Given the description of an element on the screen output the (x, y) to click on. 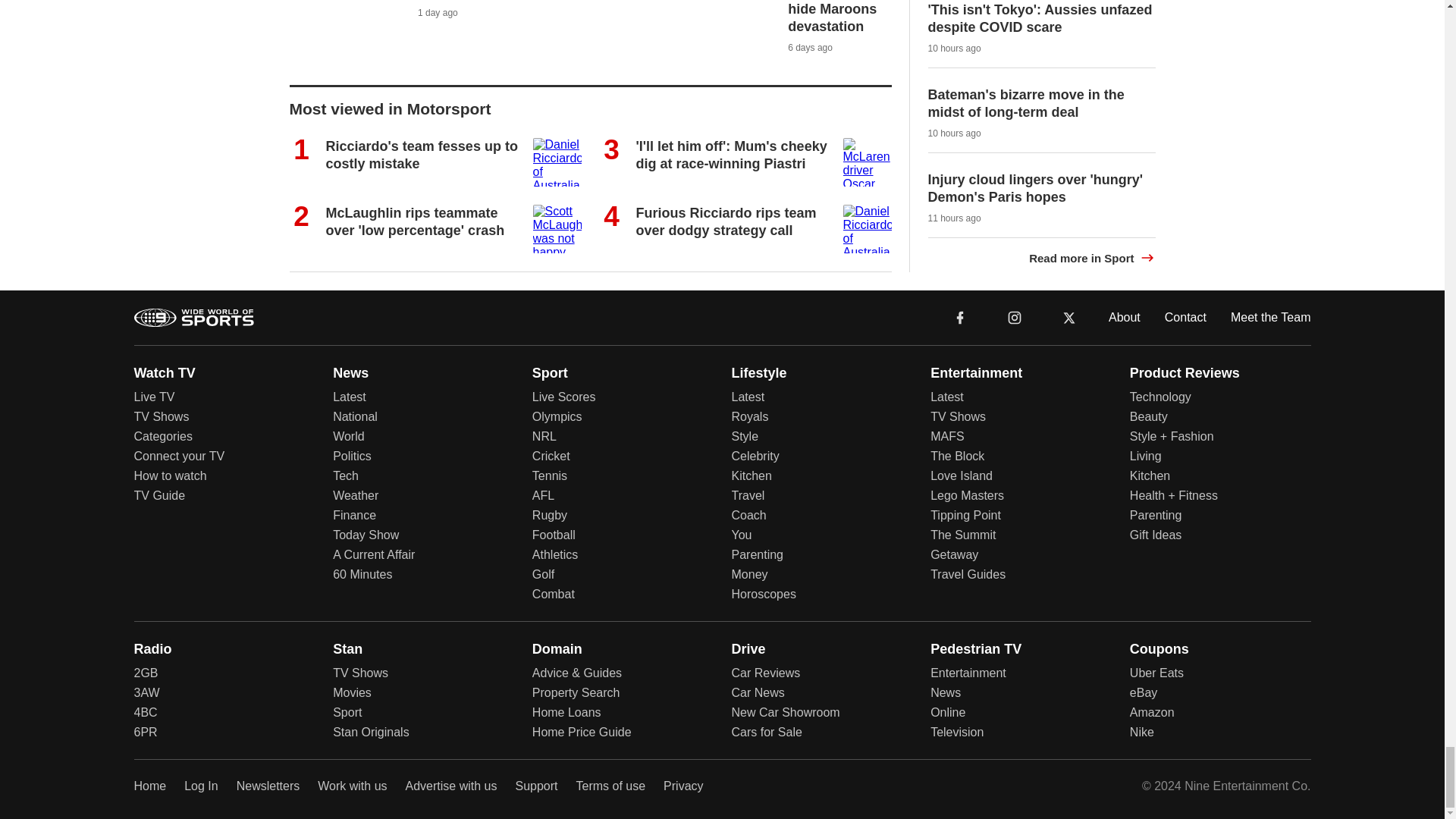
instagram (1014, 317)
x (1069, 317)
x (1069, 316)
facebook (960, 317)
instagram (1013, 316)
facebook (959, 316)
